Given the description of an element on the screen output the (x, y) to click on. 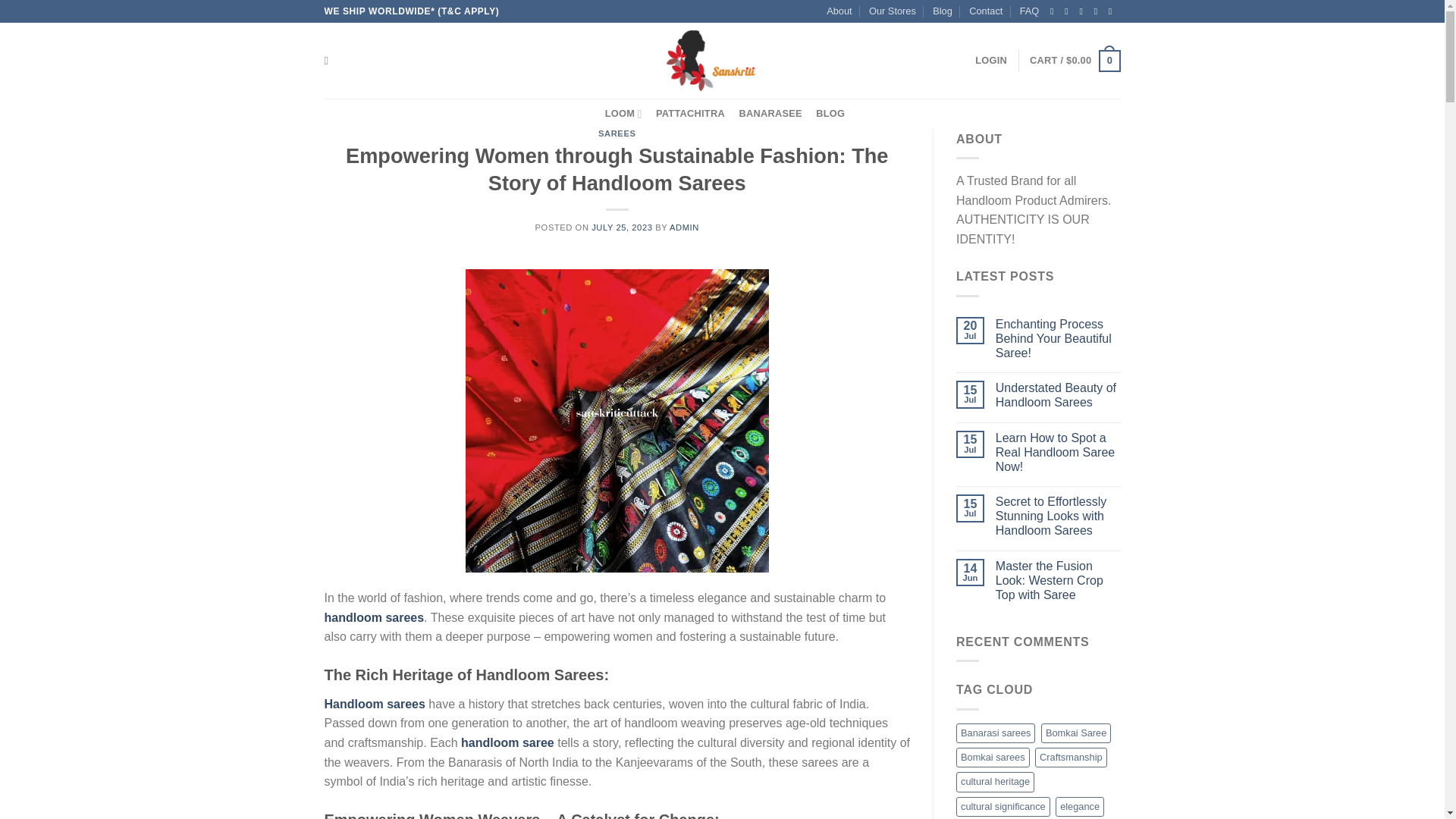
About (839, 11)
Cart (1074, 61)
Contact (986, 11)
Our Stores (892, 11)
LOGIN (991, 60)
